Given the description of an element on the screen output the (x, y) to click on. 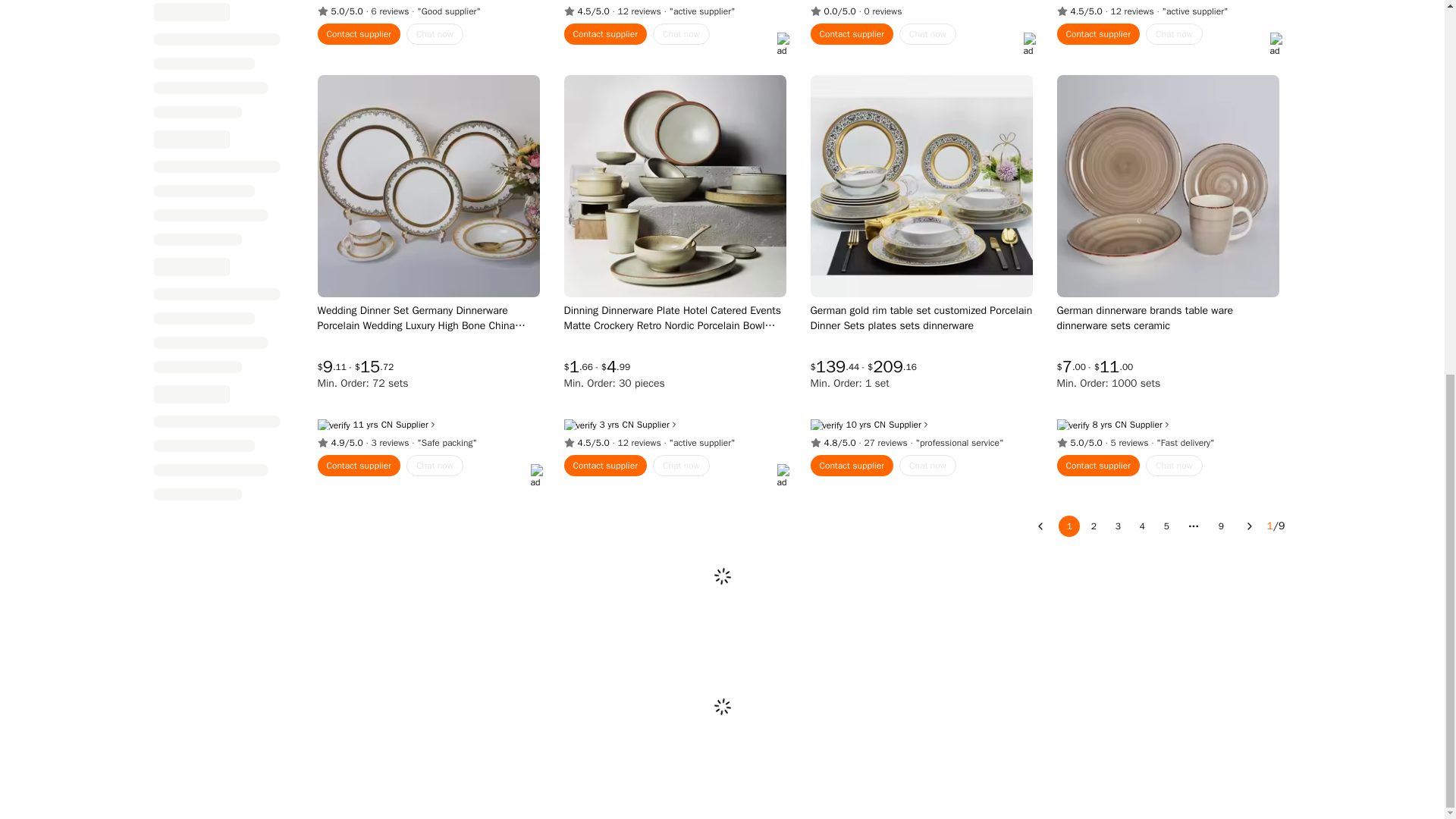
Chat now (434, 34)
Guangzhou Jiujiuju Homeware Supplies Co., Ltd. (627, 424)
Contact supplier (605, 34)
Chat now (681, 34)
Shanxi Jiakun Ceramics Co., Ltd. (387, 424)
Contact supplier (358, 34)
Henan Xingzhihe Trading Co., Ltd. (1120, 424)
